Given the description of an element on the screen output the (x, y) to click on. 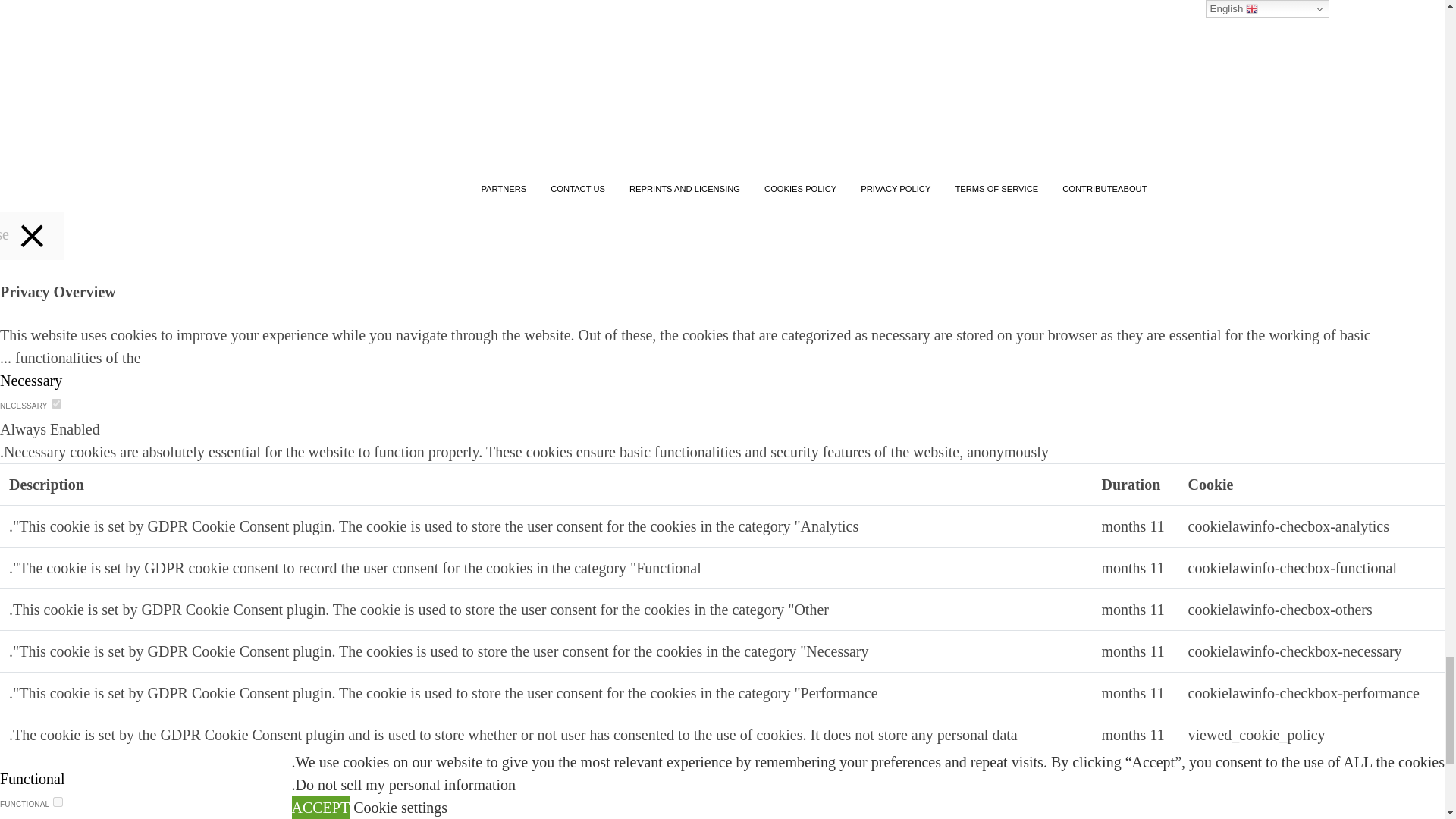
on (55, 403)
on (57, 801)
